Given the description of an element on the screen output the (x, y) to click on. 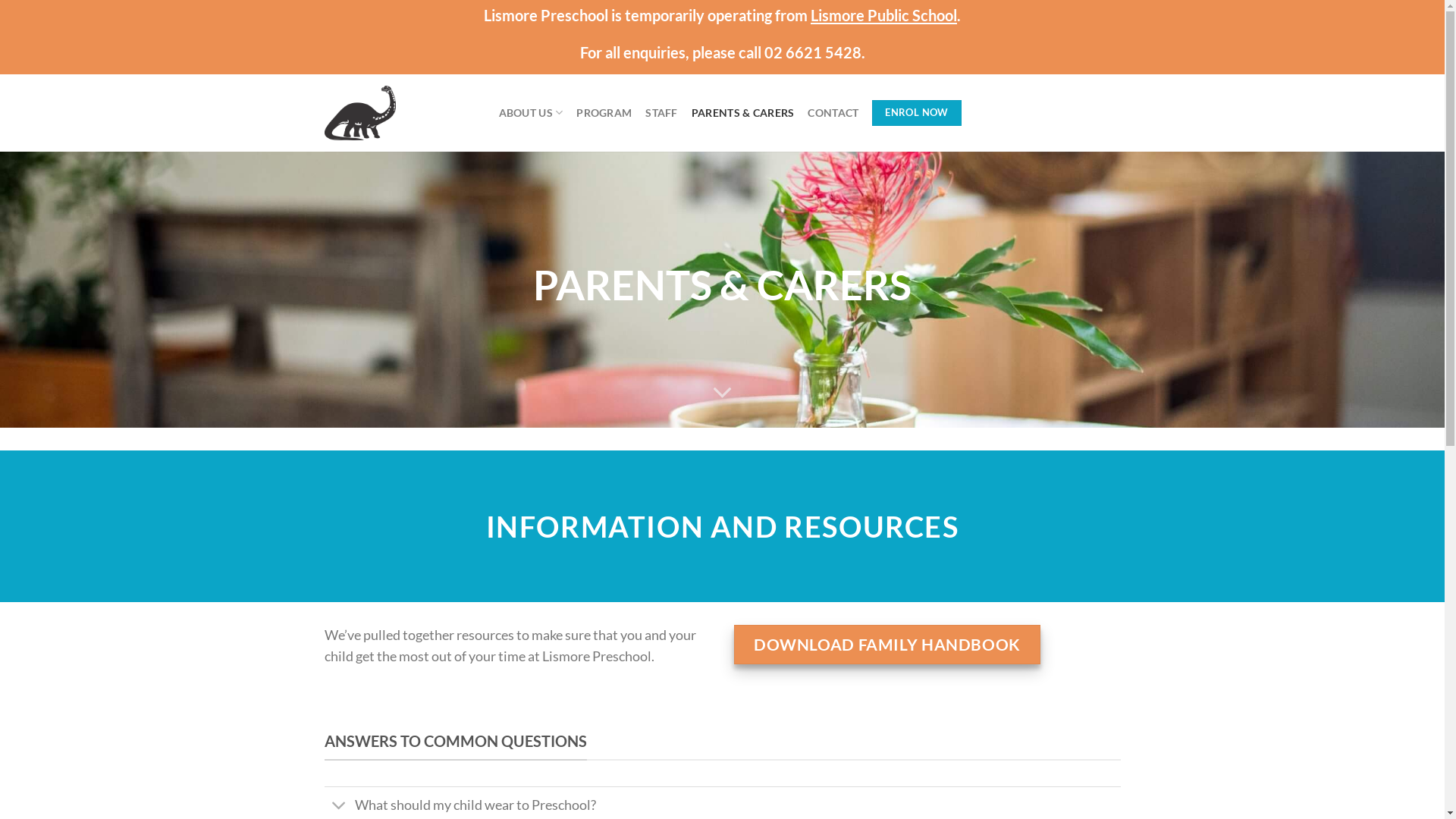
ENROL NOW Element type: text (916, 112)
Lismore Public School Element type: text (883, 15)
STAFF Element type: text (661, 112)
ABOUT US Element type: text (530, 112)
CONTACT Element type: text (832, 112)
Lismore Preschool - Lismore Preschool Element type: hover (400, 112)
PROGRAM Element type: text (603, 112)
DOWNLOAD FAMILY HANDBOOK Element type: text (887, 644)
PARENTS & CARERS Element type: text (742, 112)
